Given the description of an element on the screen output the (x, y) to click on. 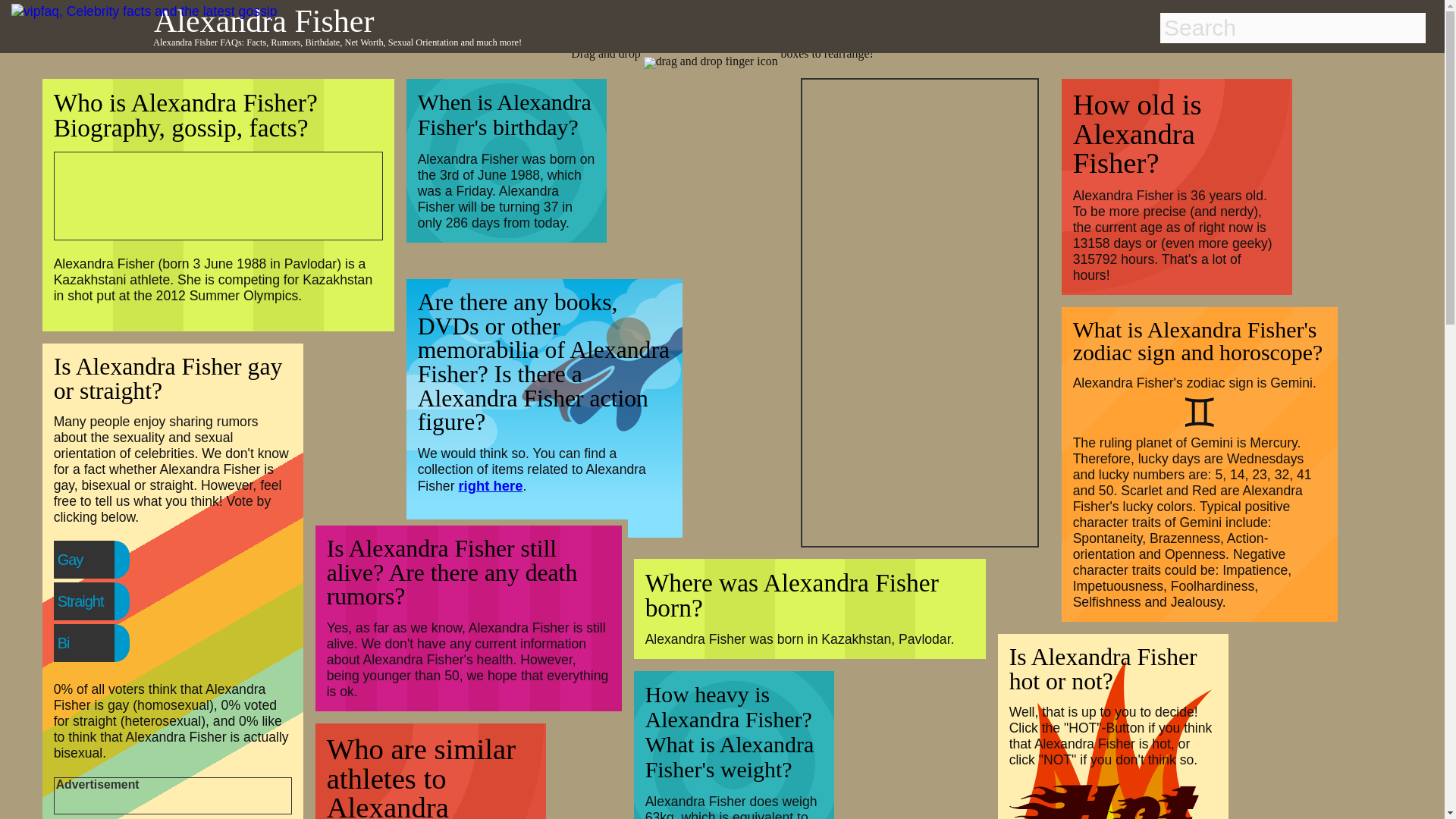
Gay (101, 559)
right here (490, 485)
Straight (111, 601)
Bi (94, 643)
Advertisement (209, 193)
